Given the description of an element on the screen output the (x, y) to click on. 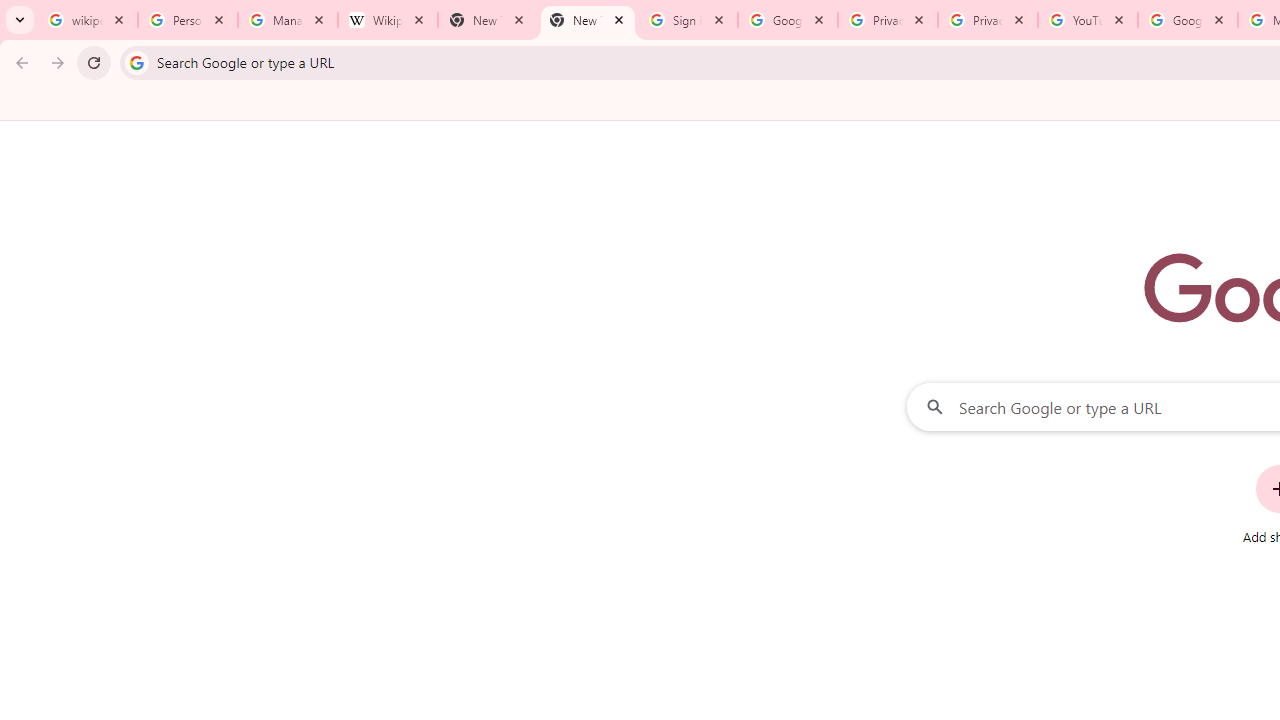
Personalization & Google Search results - Google Search Help (188, 20)
Search icon (136, 62)
Sign in - Google Accounts (687, 20)
Wikipedia:Edit requests - Wikipedia (387, 20)
Google Account Help (1187, 20)
